Given the description of an element on the screen output the (x, y) to click on. 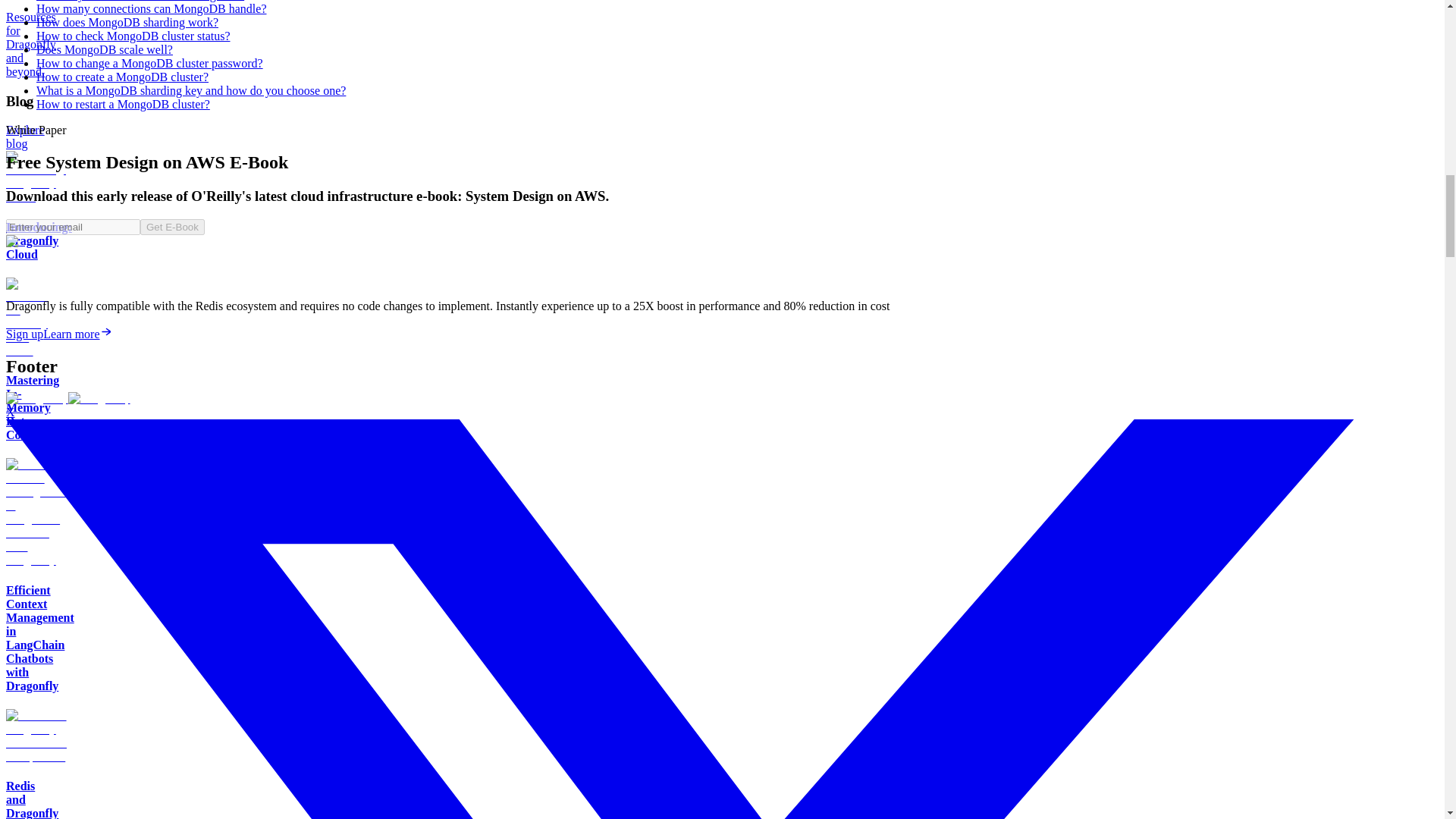
How to check MongoDB cluster status? (133, 35)
Explore blog (25, 136)
How does MongoDB sharding work? (127, 21)
How many connections can MongoDB handle? (151, 8)
